Given the description of an element on the screen output the (x, y) to click on. 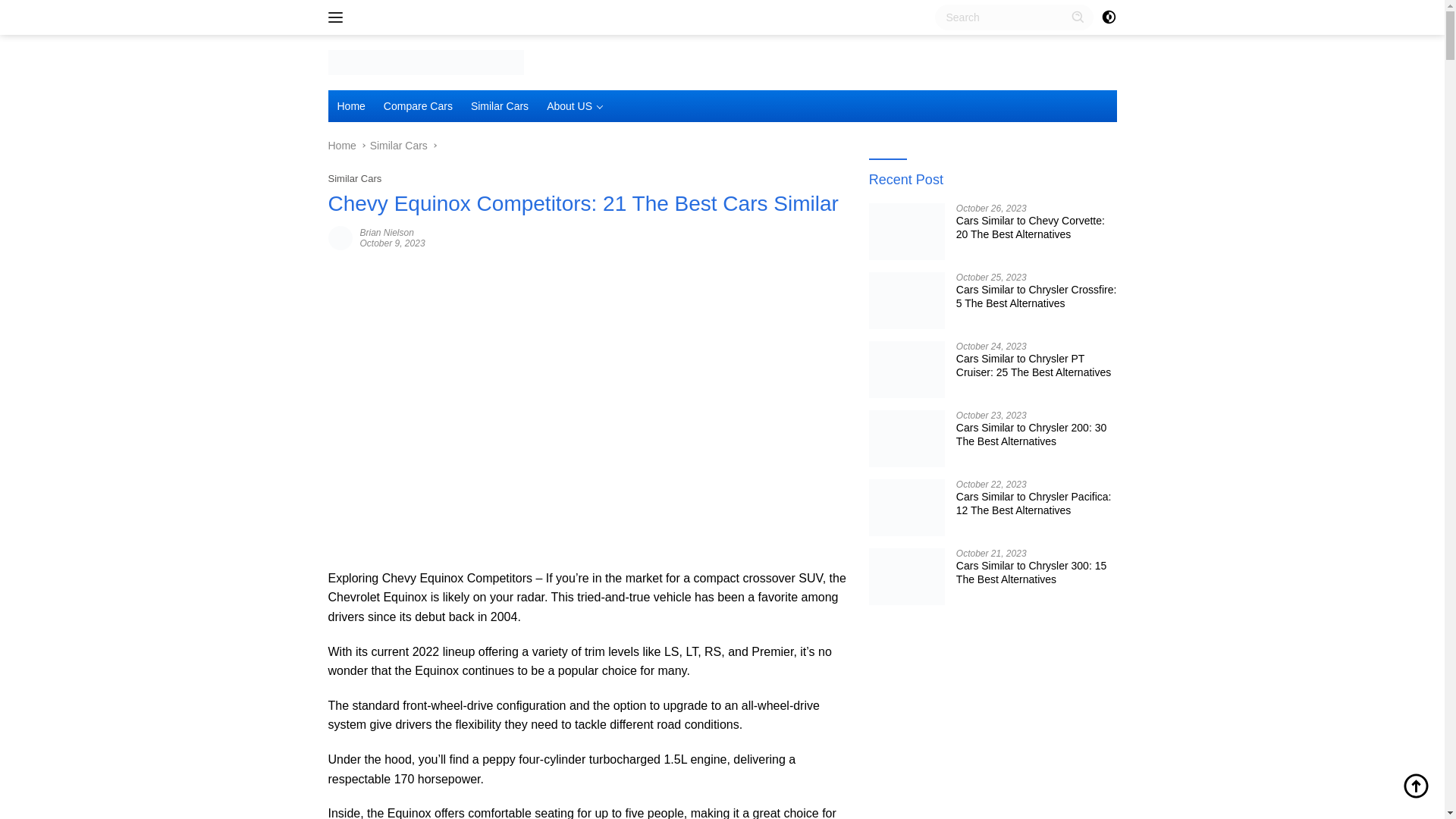
Permalink to: Brian Nielson (339, 236)
Auto Car Comparison (424, 61)
Brian Nielson (386, 232)
Similar Cars (398, 145)
Home (341, 145)
Brian Nielson (386, 232)
Similar Cars (354, 178)
About US (574, 106)
Home (350, 106)
